Given the description of an element on the screen output the (x, y) to click on. 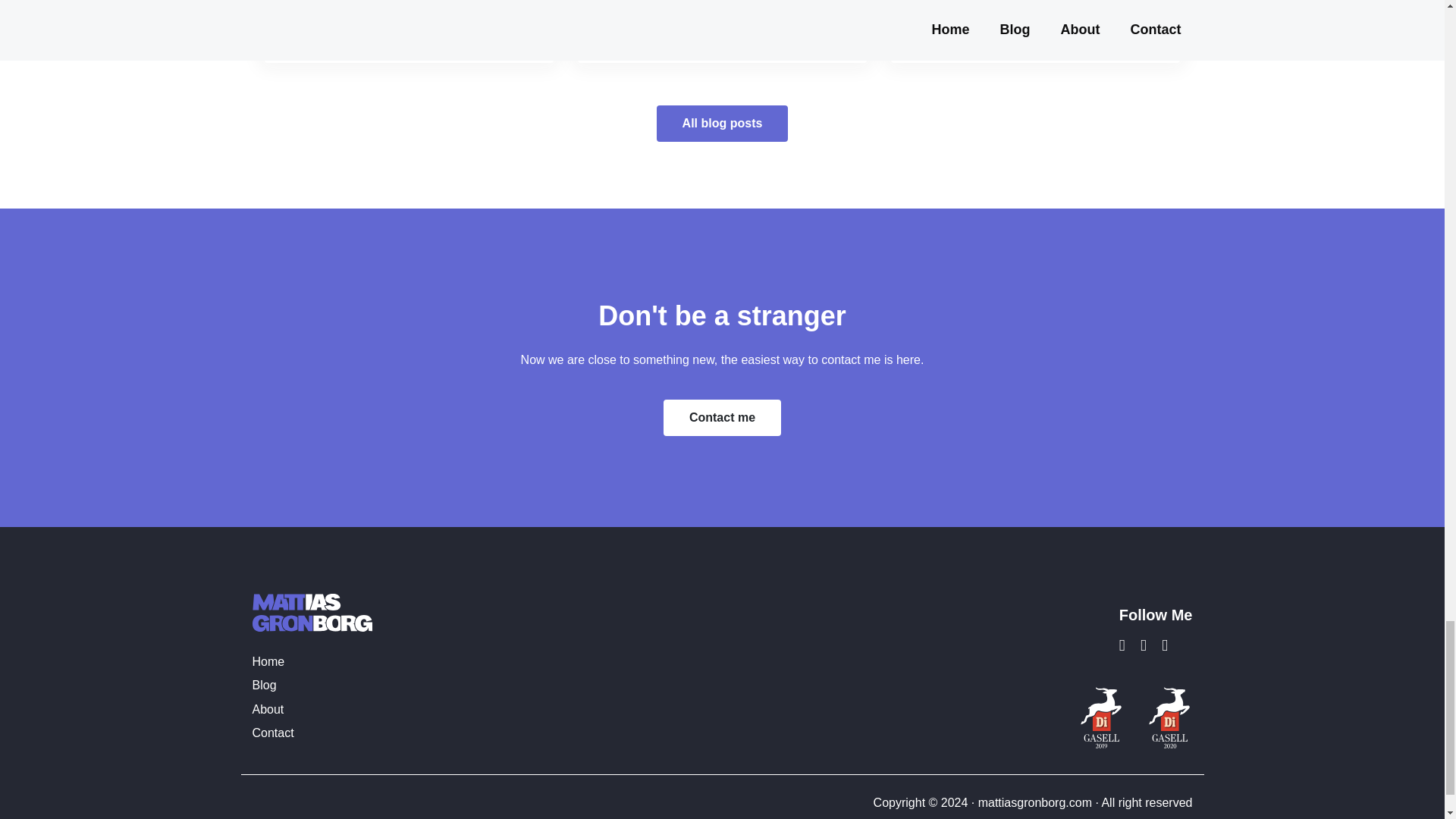
Read More (632, 25)
Read More (319, 25)
Read More (945, 25)
